Given the description of an element on the screen output the (x, y) to click on. 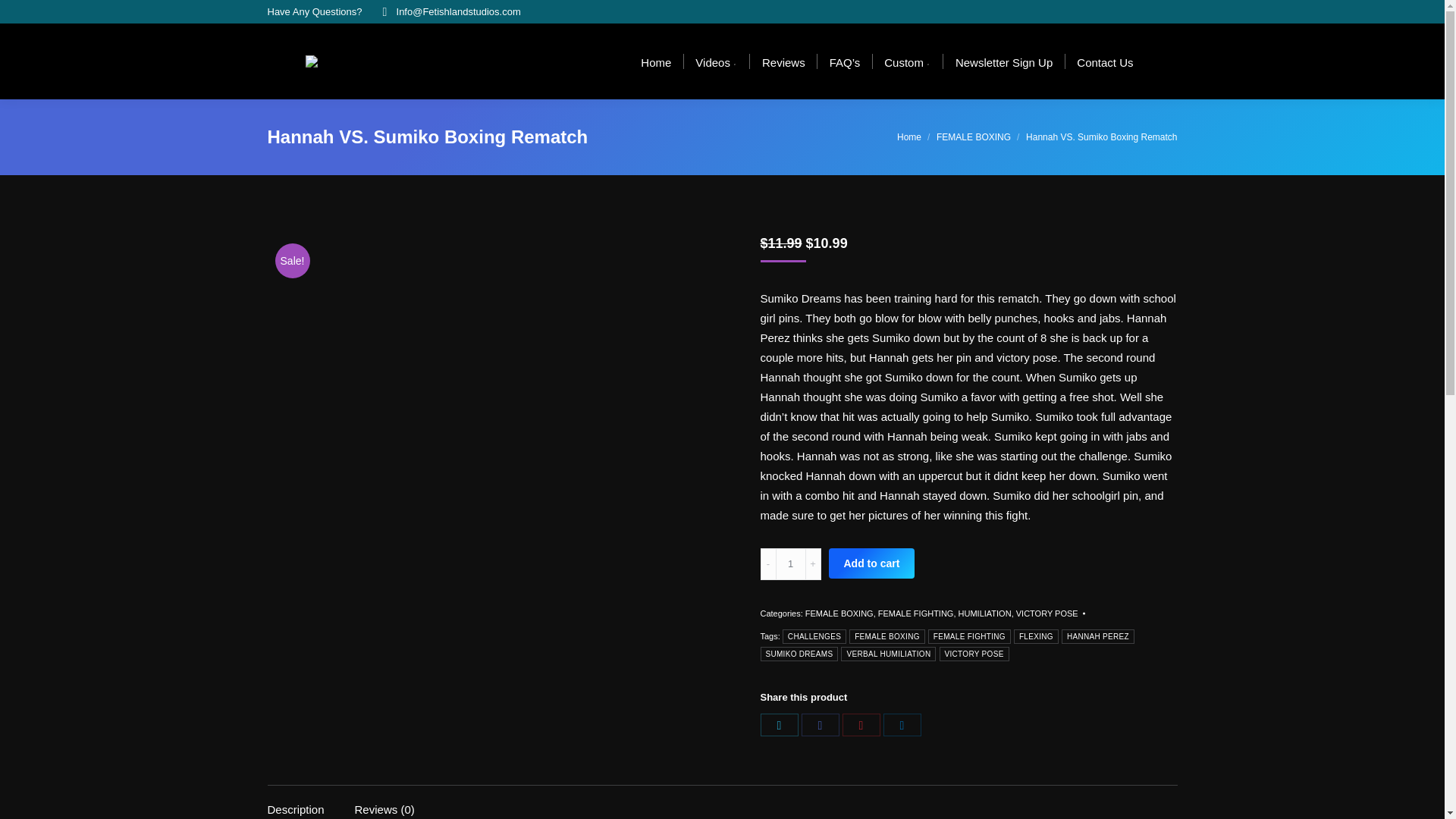
Home (908, 136)
Custom (907, 60)
Contact Us (1104, 60)
- (767, 563)
LinkedIn (901, 724)
Home (655, 60)
Newsletter Sign Up (1003, 60)
Qty (789, 563)
Videos (716, 60)
Home (908, 136)
FEMALE BOXING (973, 136)
1 (789, 563)
Twitter (778, 724)
Pinterest (860, 724)
Facebook (819, 724)
